Given the description of an element on the screen output the (x, y) to click on. 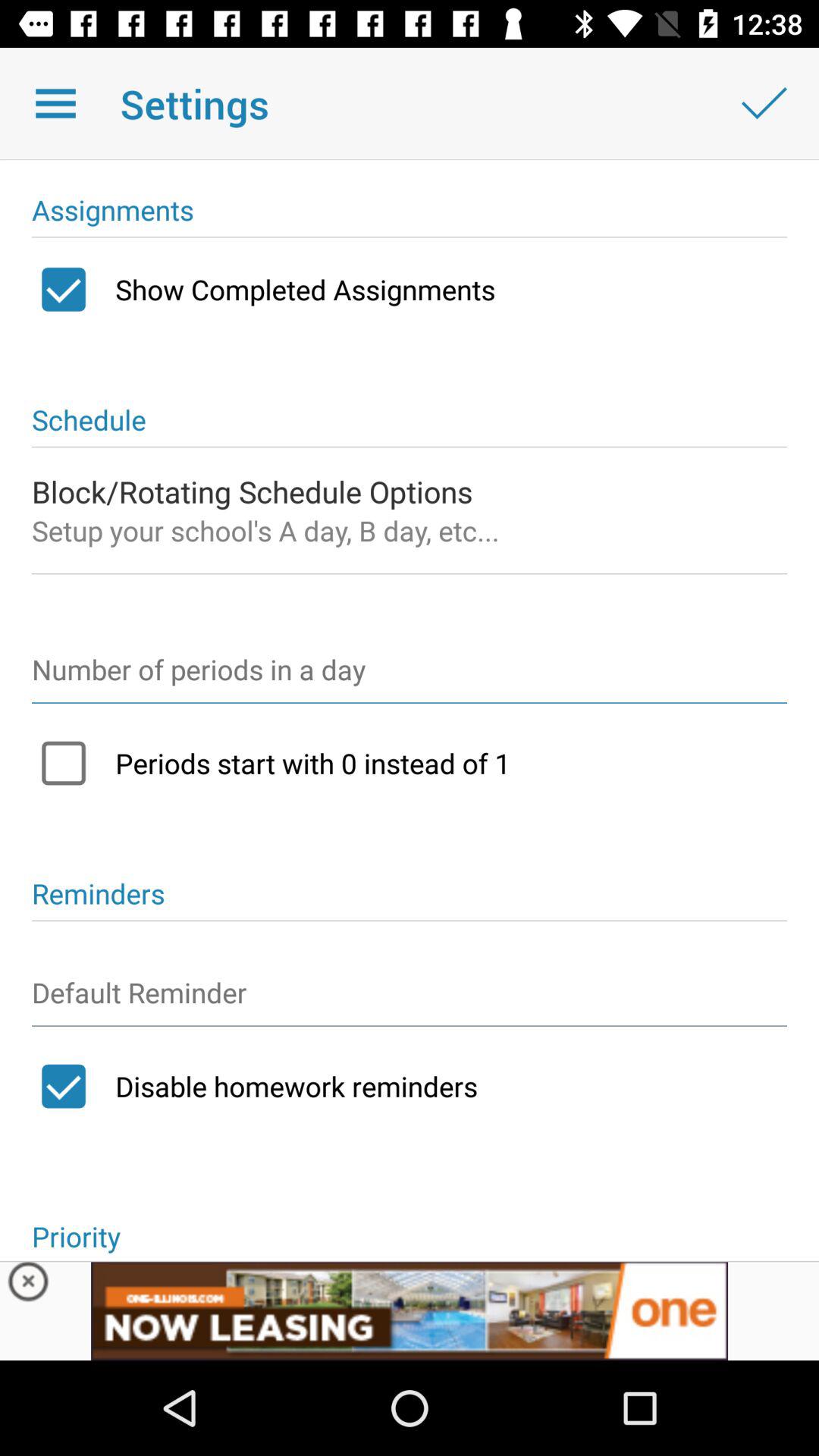
button setting icon (409, 999)
